Given the description of an element on the screen output the (x, y) to click on. 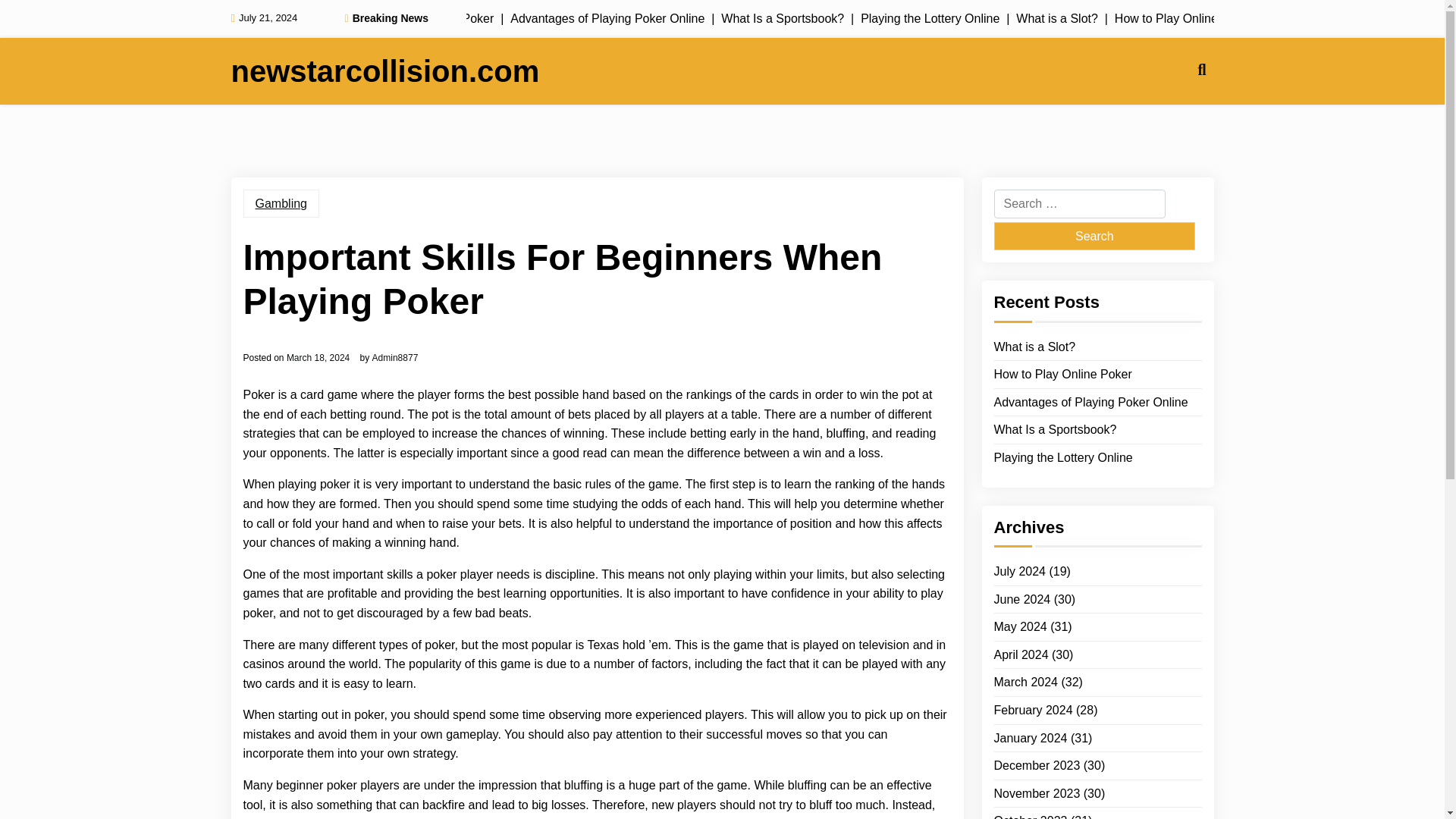
newstarcollision.com (384, 71)
What is a Slot? (1033, 347)
What Is a Sportsbook? (1054, 429)
October 2023 (1029, 815)
July 2024 (1018, 571)
March 2024 (1025, 682)
Playing the Lottery Online (1062, 457)
Gambling (280, 203)
January 2024 (1029, 737)
Admin8877 (395, 357)
May 2024 (1019, 627)
November 2023 (1036, 793)
Search (1093, 235)
June 2024 (1020, 599)
March 18, 2024 (317, 357)
